Given the description of an element on the screen output the (x, y) to click on. 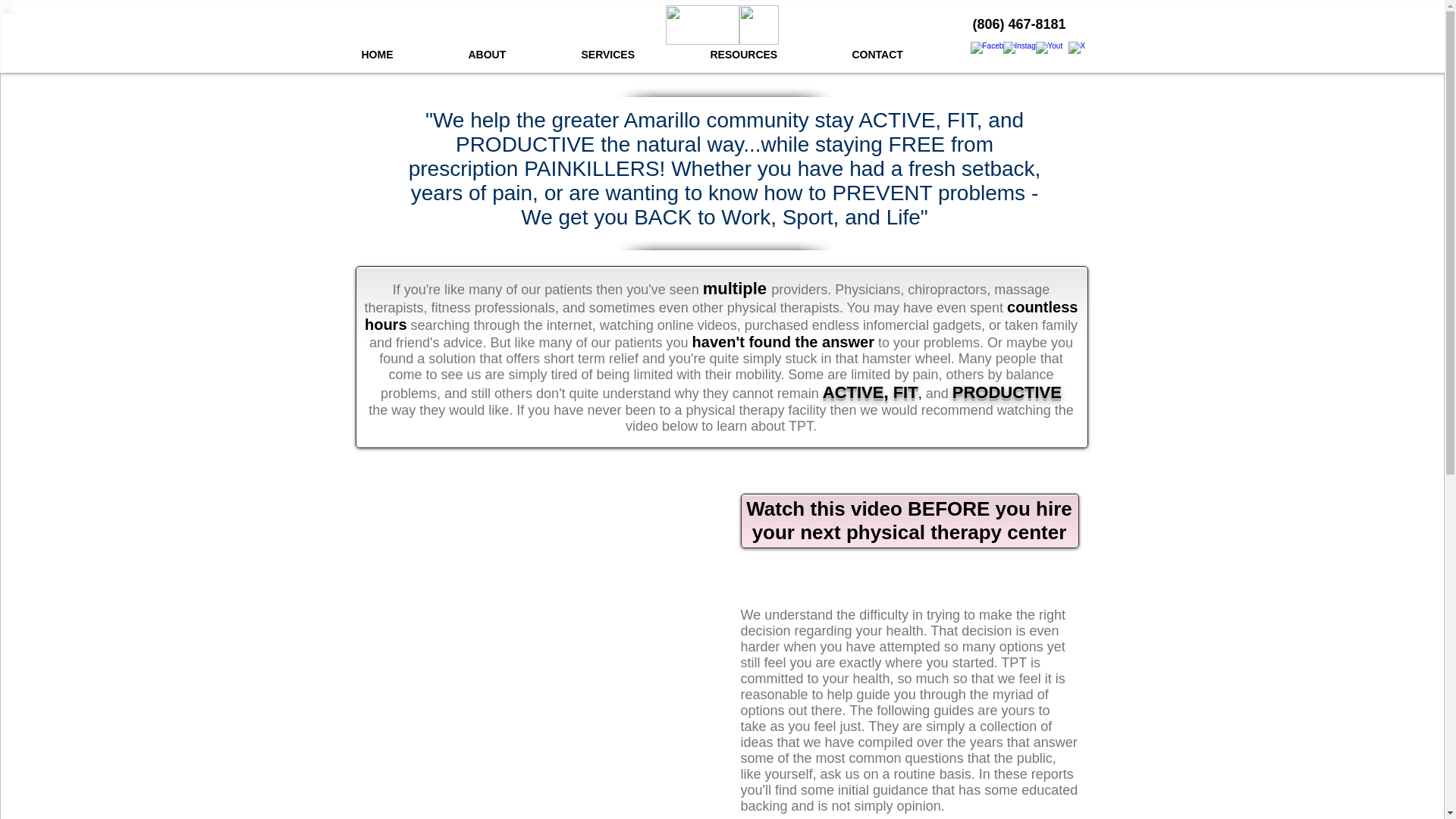
HOME (403, 54)
SERVICES (634, 54)
External Vimeo (547, 584)
